Given the description of an element on the screen output the (x, y) to click on. 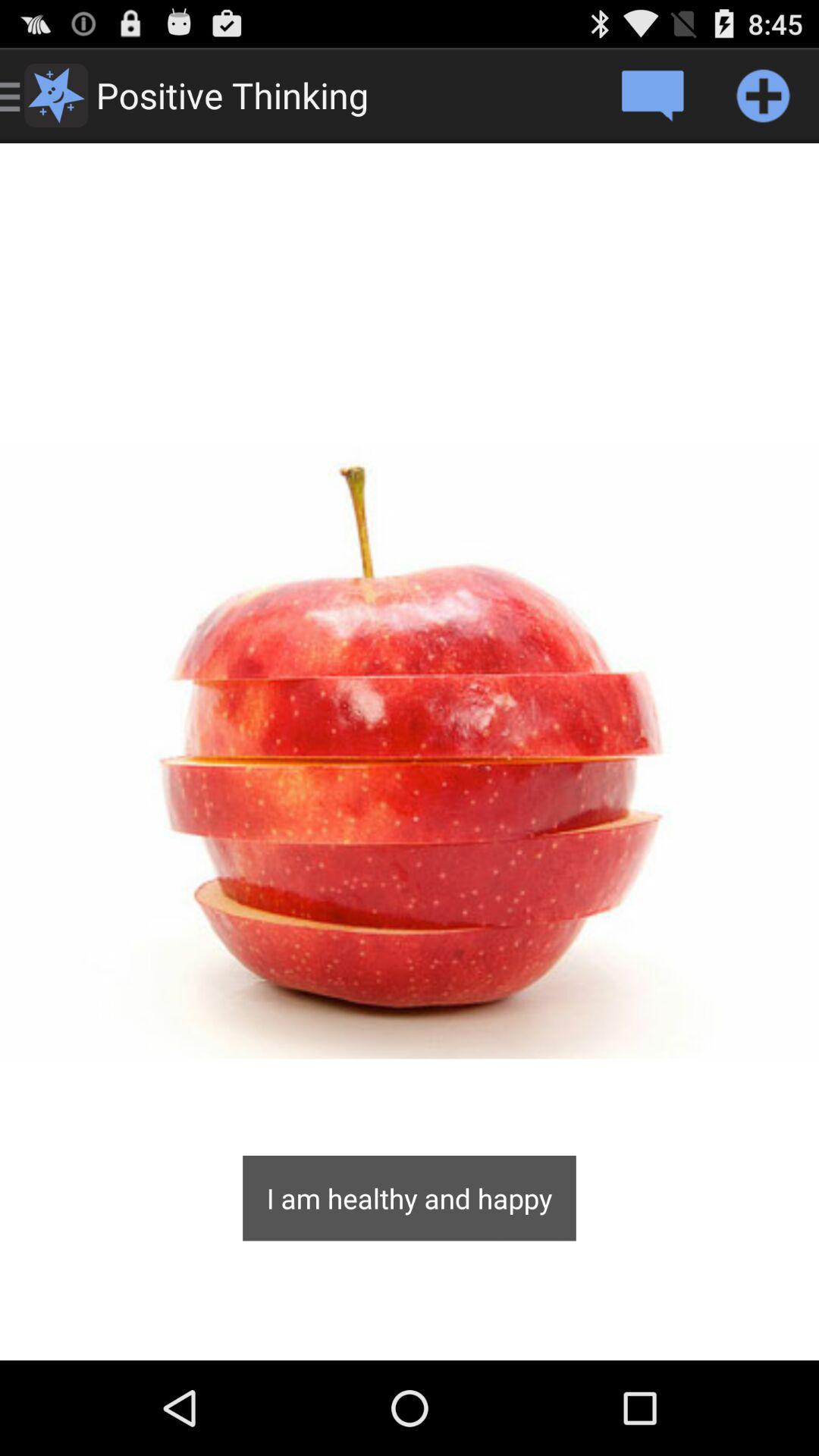
upload images (763, 95)
